Given the description of an element on the screen output the (x, y) to click on. 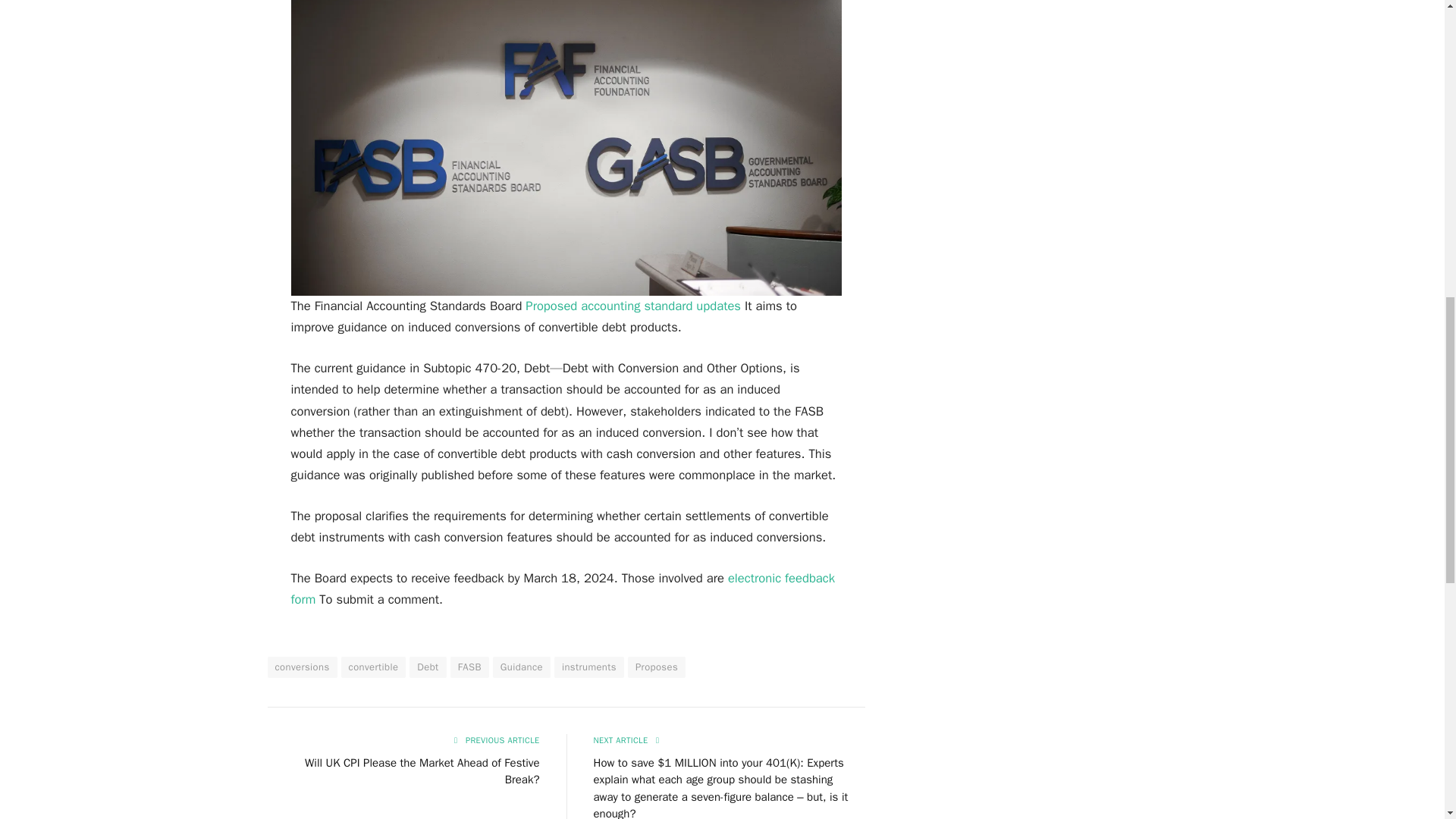
conversions (301, 667)
Debt (427, 667)
Guidance (521, 667)
electronic feedback form (563, 588)
convertible (373, 667)
FASB (469, 667)
Proposed accounting standard updates (634, 305)
instruments (589, 667)
